Given the description of an element on the screen output the (x, y) to click on. 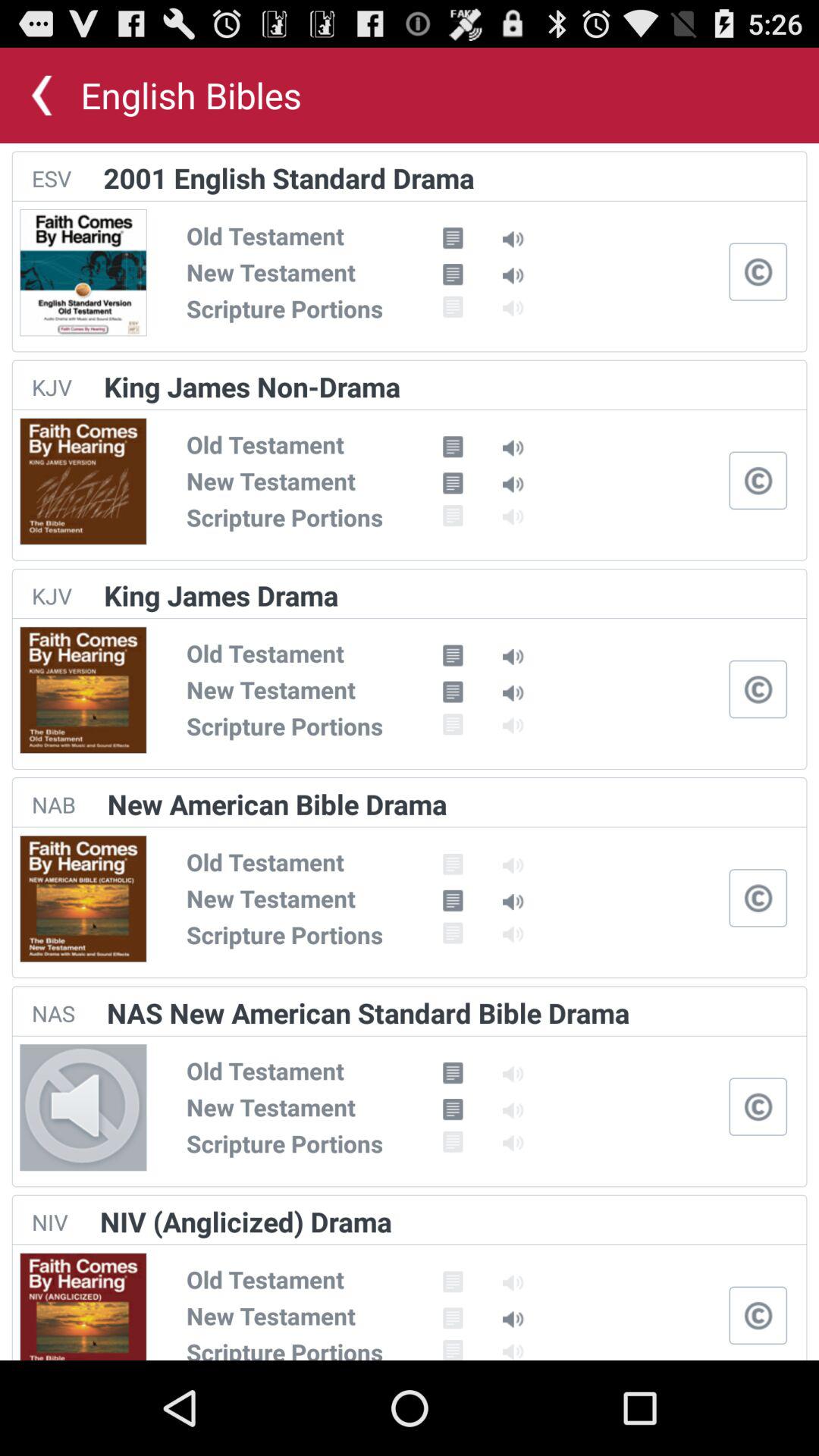
flip to the esv app (51, 178)
